Given the description of an element on the screen output the (x, y) to click on. 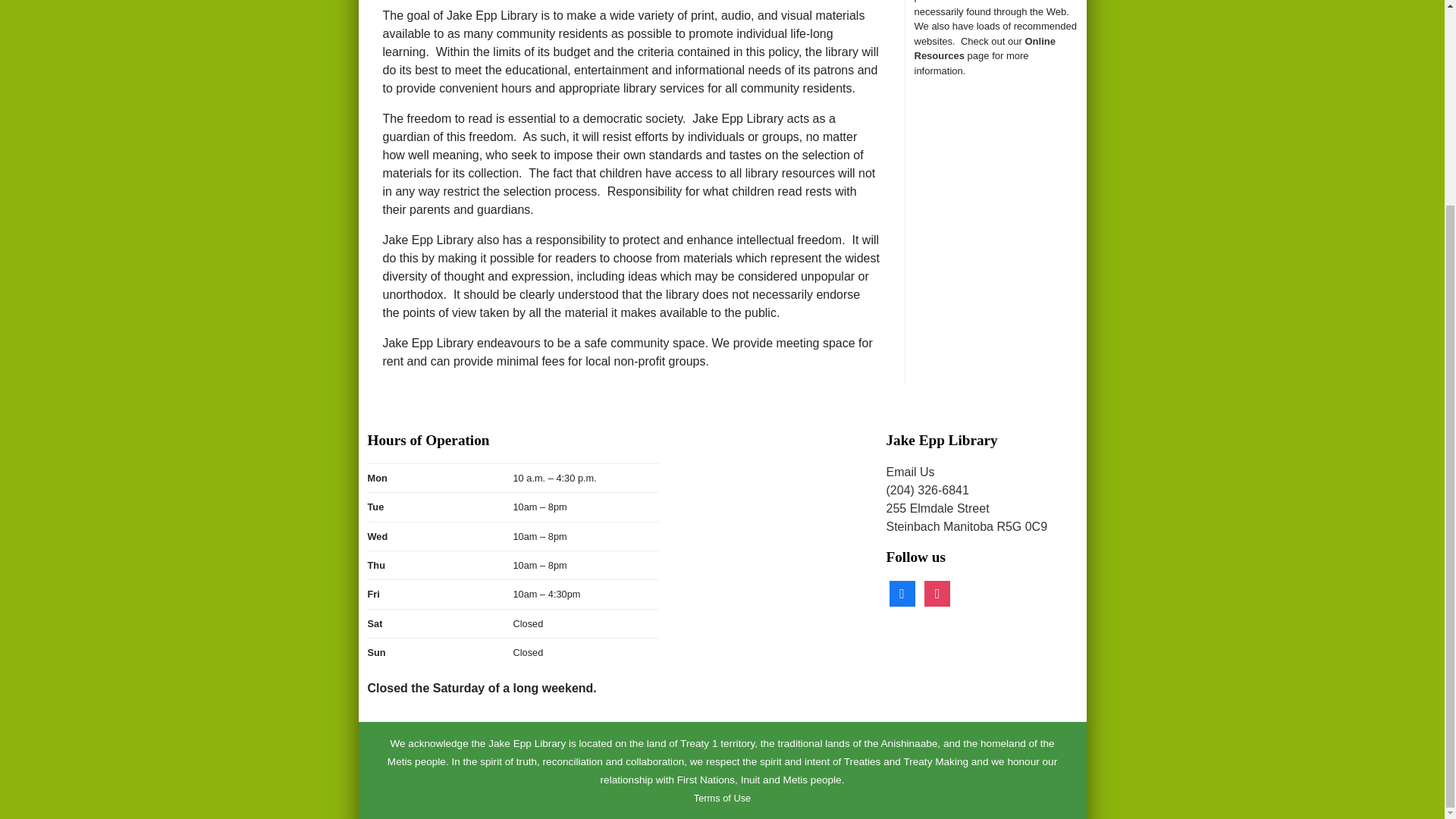
Terms of Use (722, 797)
Research (984, 49)
Instagram (937, 592)
Facebook (901, 592)
